Given the description of an element on the screen output the (x, y) to click on. 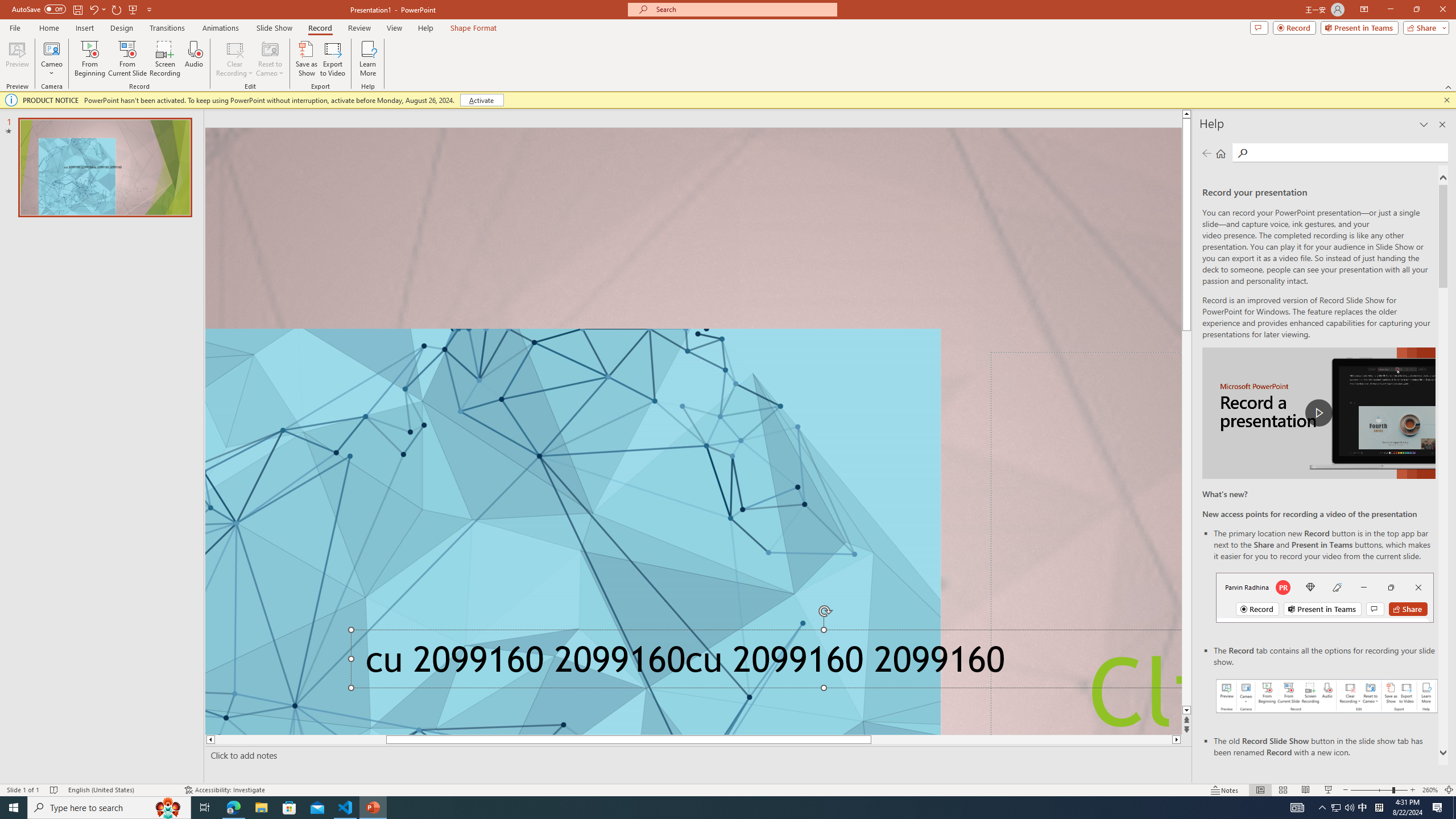
Zoom 260% (1430, 790)
Preview (17, 58)
Shape Format (473, 28)
Cameo (51, 58)
